Given the description of an element on the screen output the (x, y) to click on. 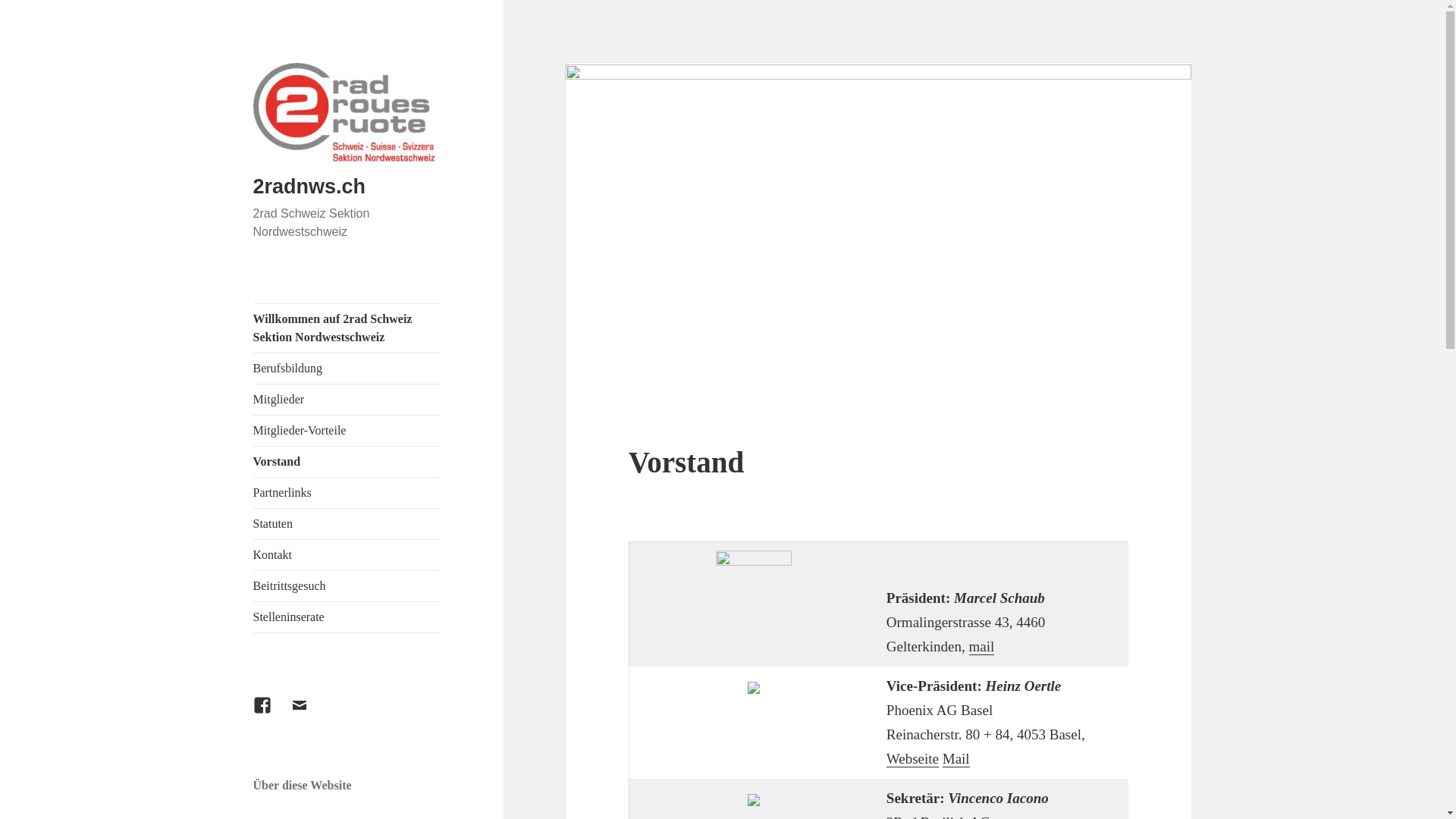
Facebook Element type: text (271, 714)
E-Mail Element type: text (308, 714)
Stelleninserate Element type: text (347, 617)
Statuten Element type: text (347, 523)
Webseite Element type: text (912, 758)
Partnerlinks Element type: text (347, 492)
Kontakt Element type: text (347, 554)
Mitglieder Element type: text (347, 399)
Vorstand Element type: text (347, 461)
2radnws.ch Element type: text (309, 186)
Willkommen auf 2rad Schweiz Sektion Nordwestschweiz Element type: text (347, 328)
Berufsbildung Element type: text (347, 368)
Mail Element type: text (955, 758)
Mitglieder-Vorteile Element type: text (347, 430)
Beitrittsgesuch Element type: text (347, 586)
mail Element type: text (981, 646)
